Given the description of an element on the screen output the (x, y) to click on. 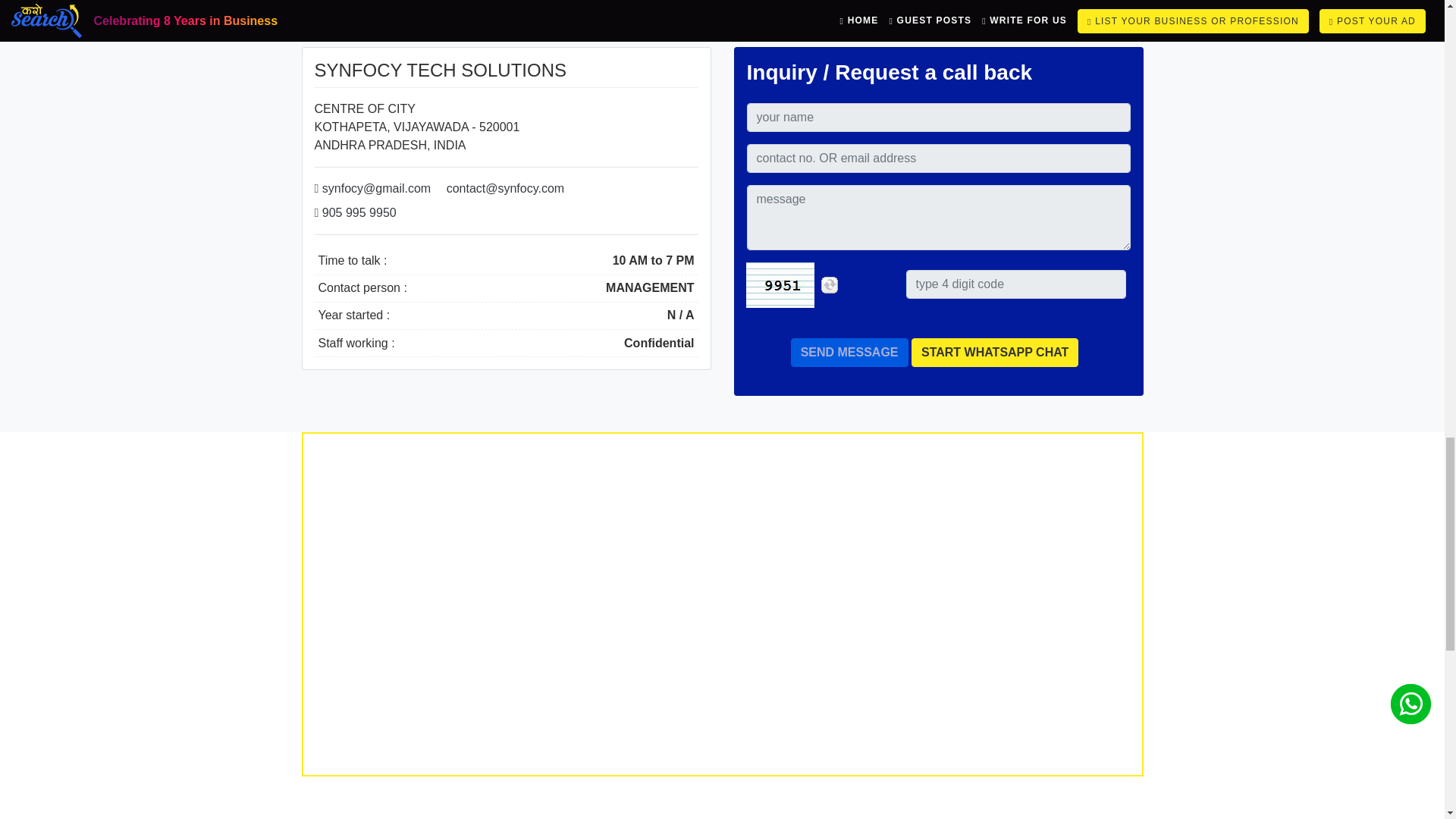
SEND MESSAGE (849, 352)
905 995 9950 (358, 212)
Refresh (829, 283)
START WHATSAPP CHAT (994, 352)
SEND MESSAGE (849, 352)
